Given the description of an element on the screen output the (x, y) to click on. 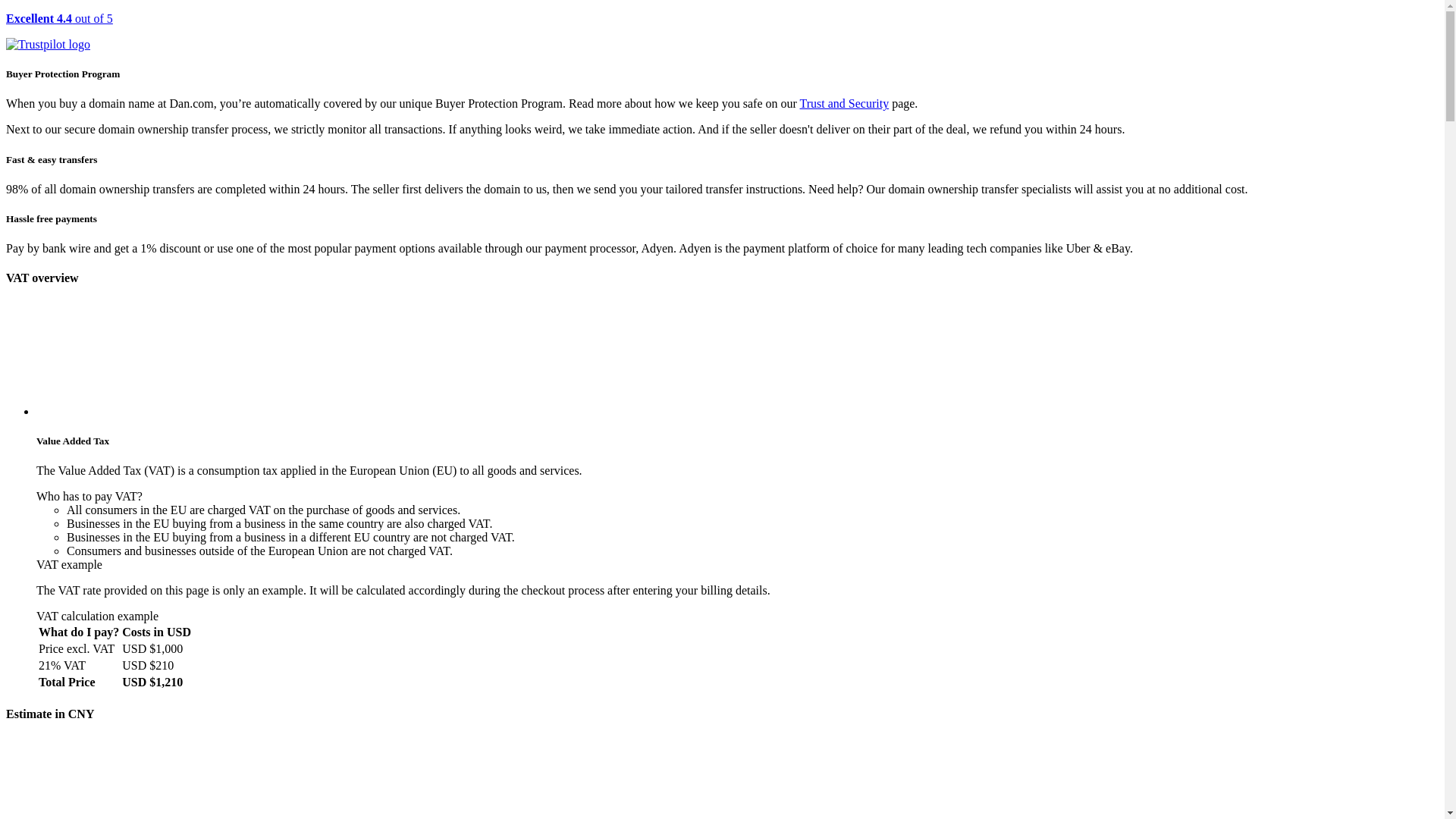
Trust and Security Element type: text (844, 103)
Excellent 4.4 out of 5 Element type: text (722, 31)
